Given the description of an element on the screen output the (x, y) to click on. 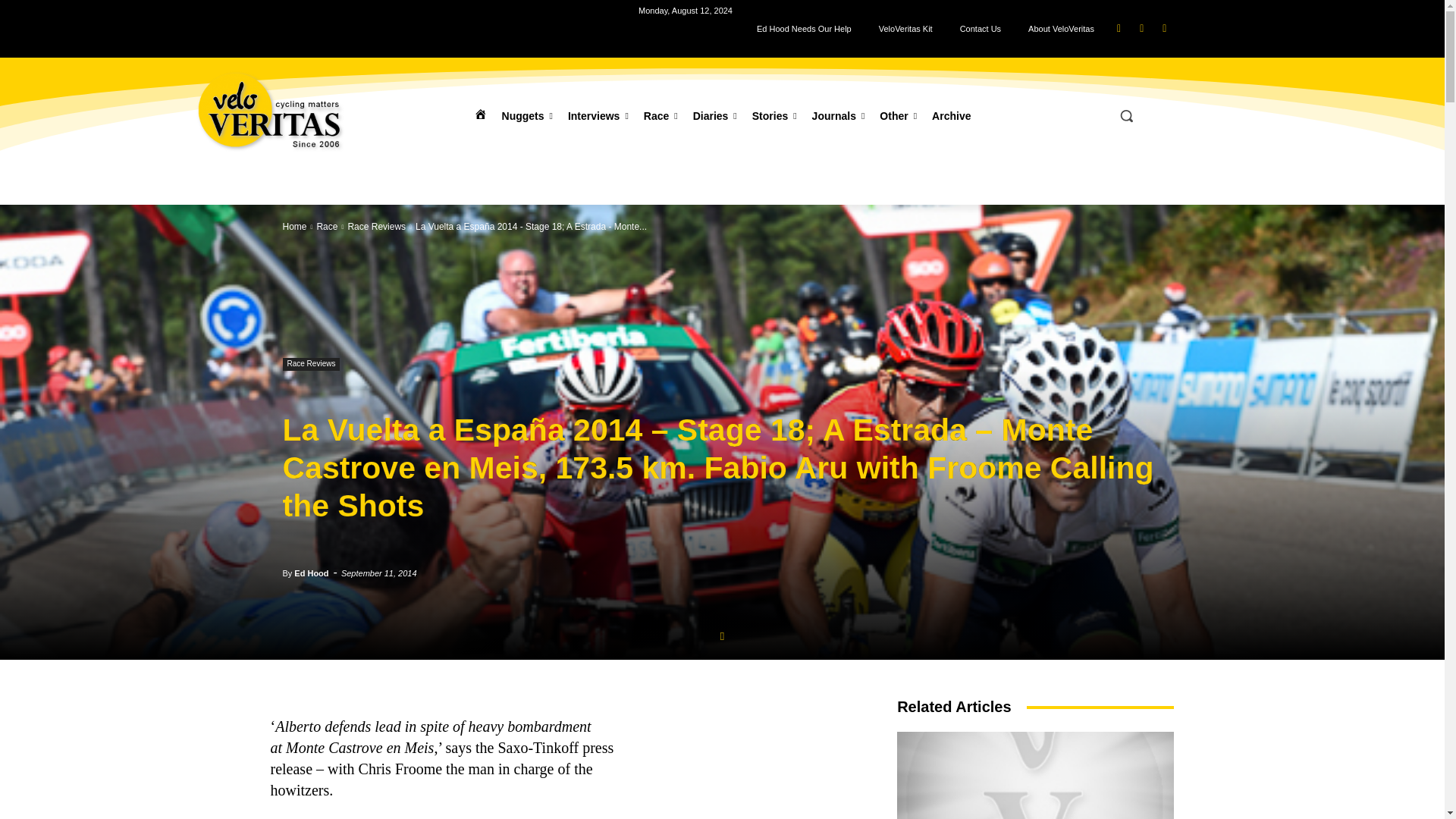
Facebook (1118, 27)
Twitter (1163, 27)
Instagram (1141, 27)
